Given the description of an element on the screen output the (x, y) to click on. 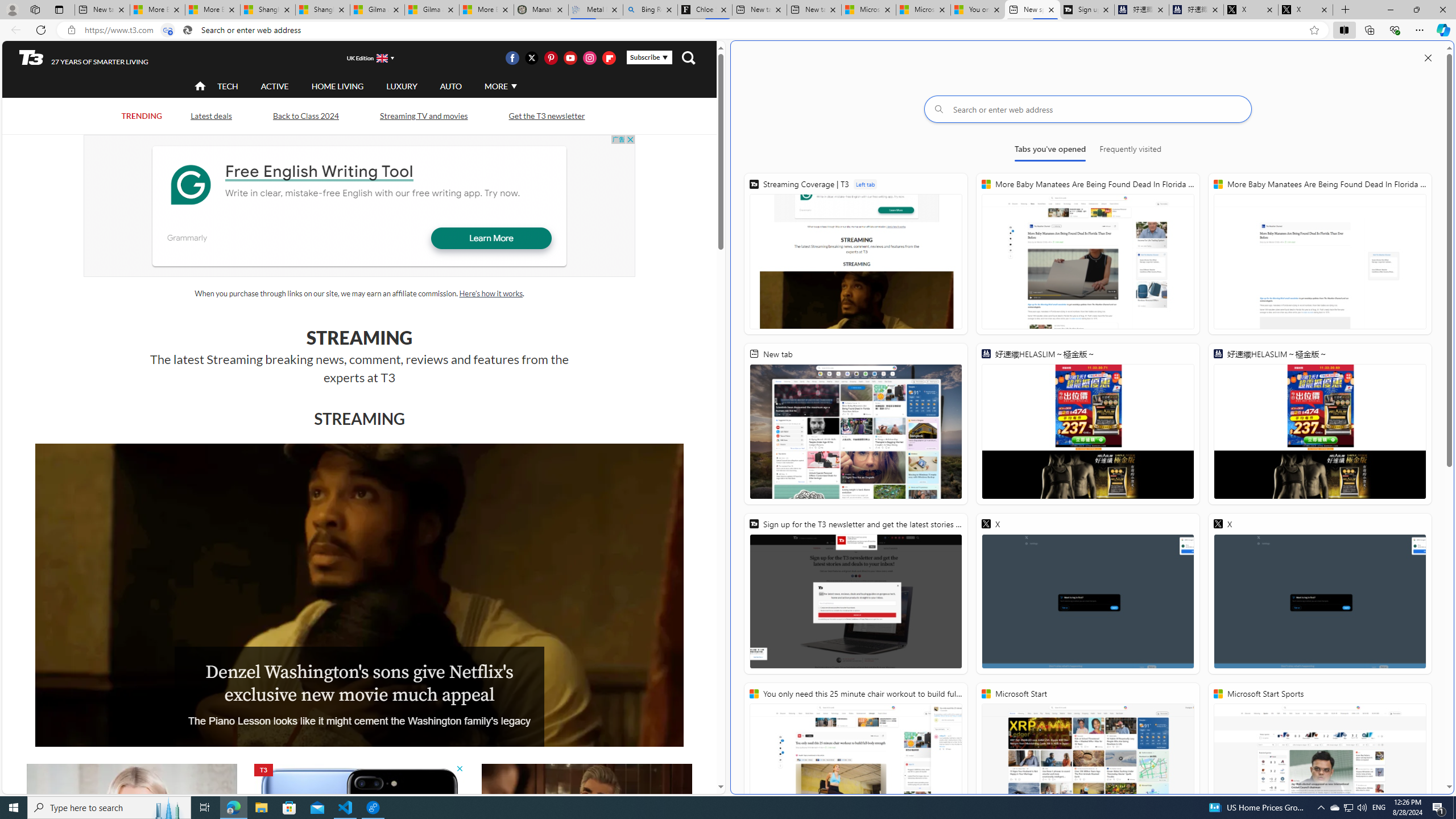
Search or enter web address (1088, 108)
HOME LIVING (337, 85)
ACTIVE (274, 85)
Class: navigation__search (688, 57)
Visit us on Facebook (512, 57)
T3 (30, 56)
